Given the description of an element on the screen output the (x, y) to click on. 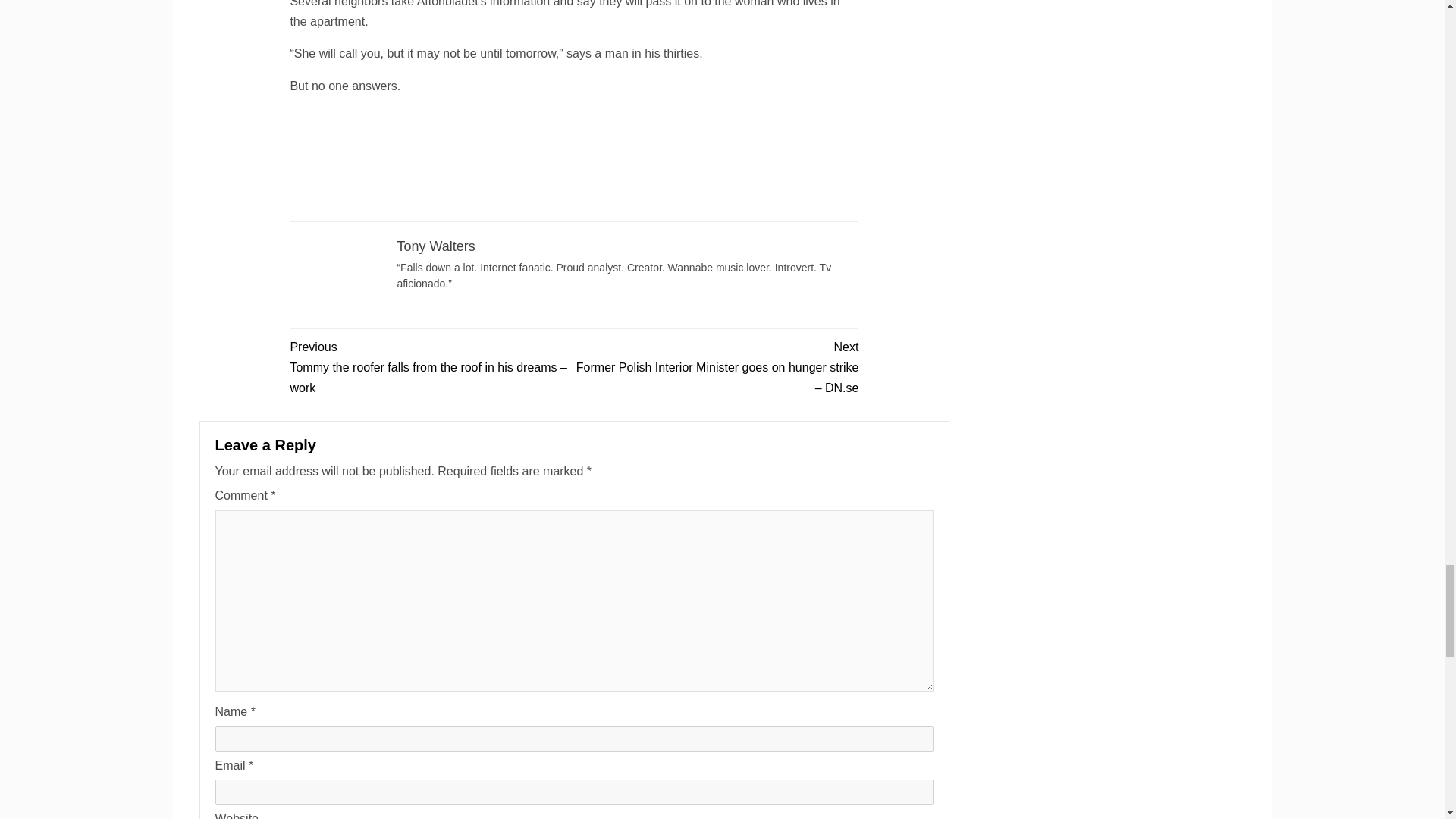
Tony Walters (435, 246)
